Given the description of an element on the screen output the (x, y) to click on. 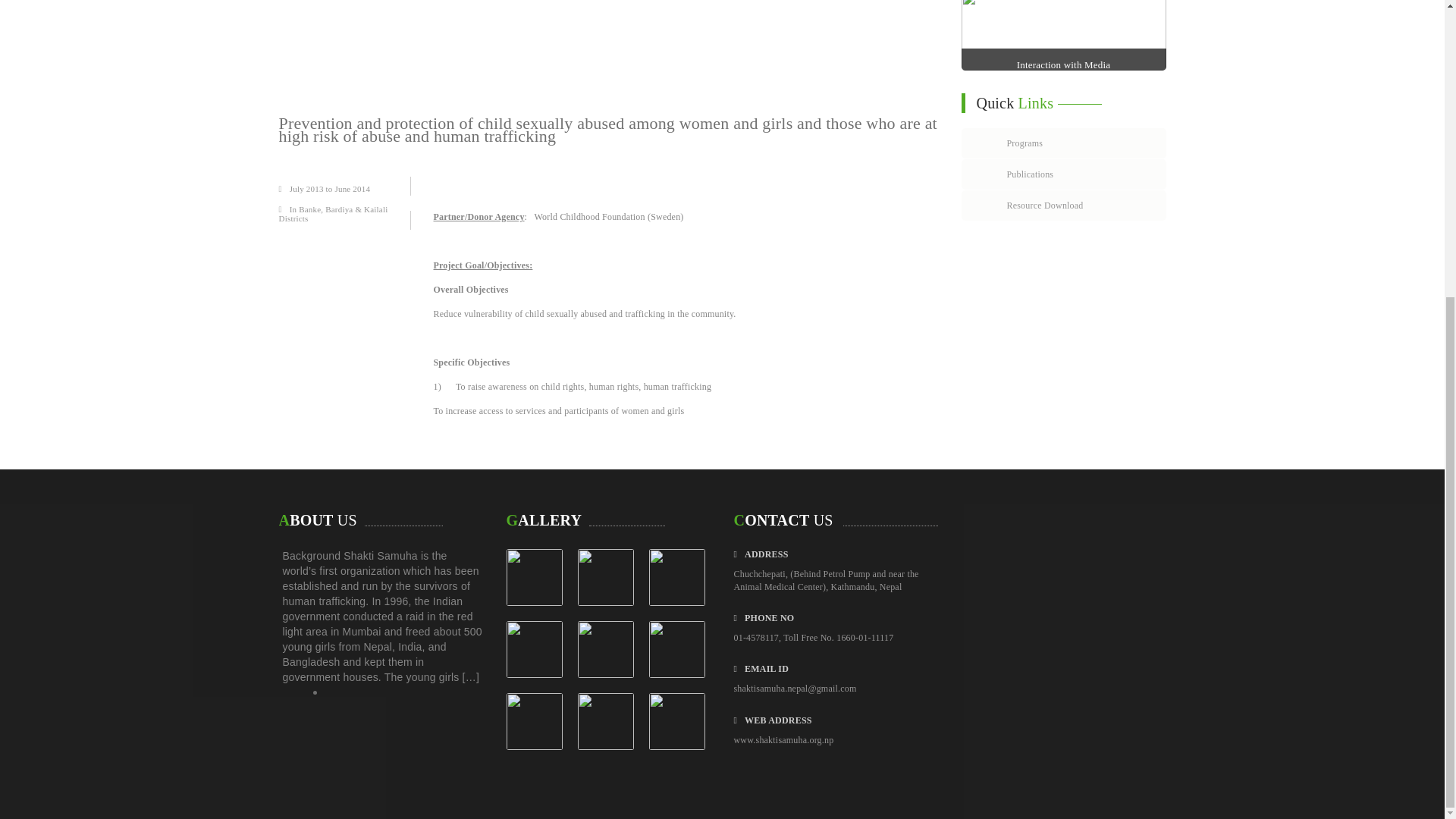
Resource Download (1063, 205)
July 2013 to June 2014 (325, 188)
Interaction with Media (1063, 64)
Programs (1063, 142)
Publications (1063, 173)
